Given the description of an element on the screen output the (x, y) to click on. 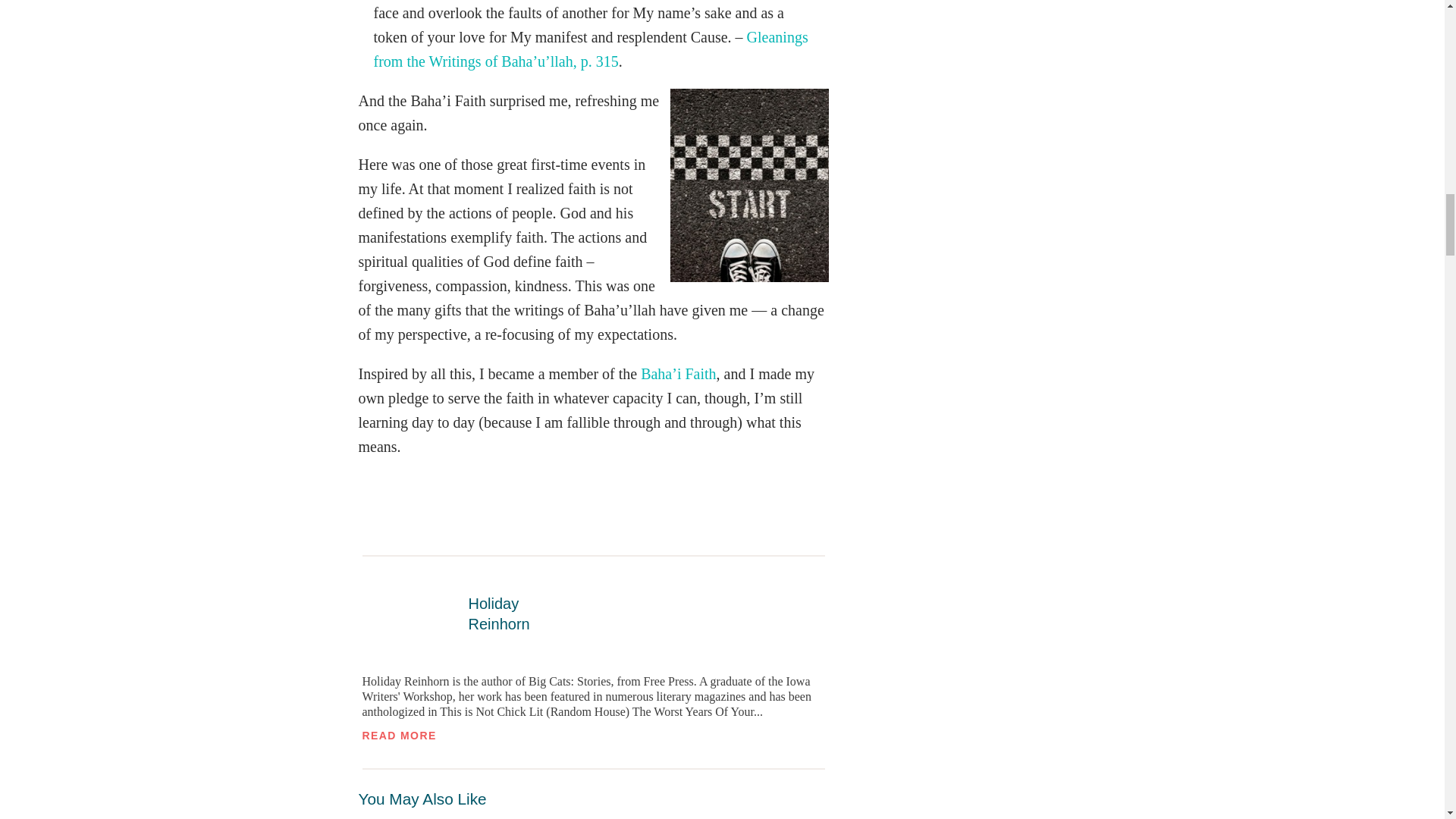
Share by email (376, 530)
